Given the description of an element on the screen output the (x, y) to click on. 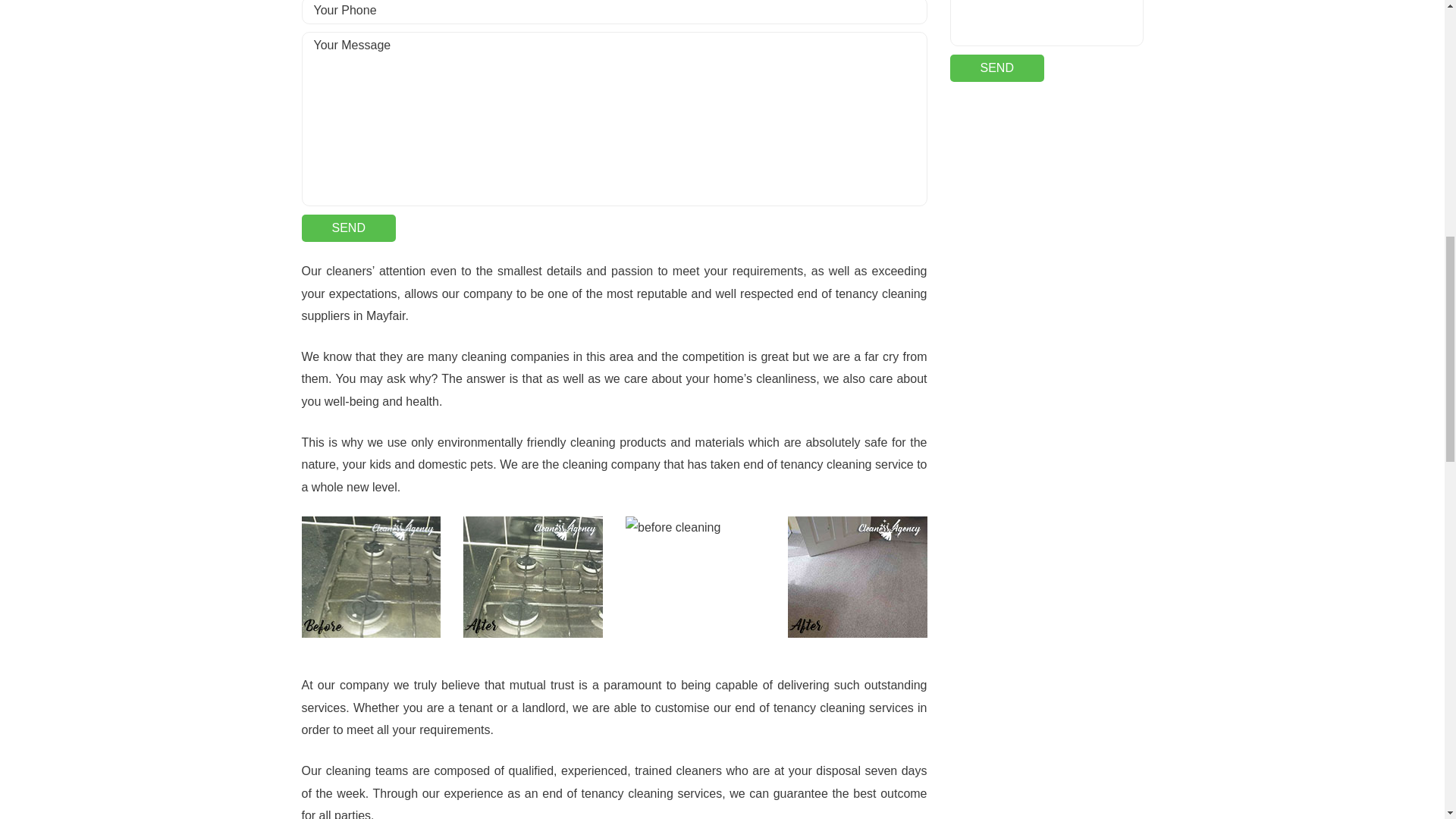
Send (996, 67)
Send (348, 227)
Send (996, 67)
Send (348, 227)
